Given the description of an element on the screen output the (x, y) to click on. 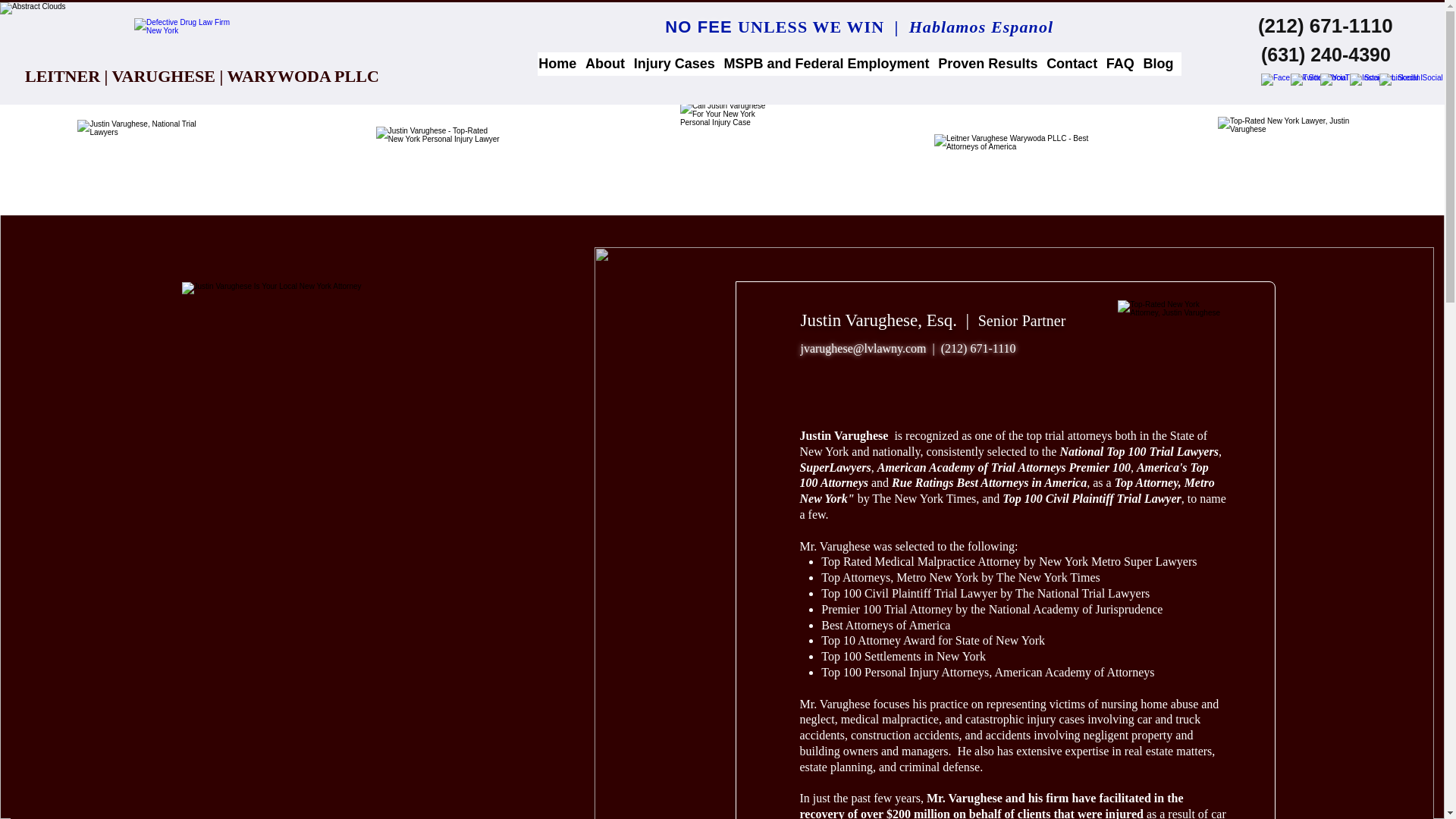
FAQ (1123, 64)
LVW 5.png (188, 42)
NO FEE (701, 26)
Proven Results (991, 64)
Home (561, 64)
About (609, 64)
Injury Cases (678, 64)
Blog (1162, 64)
Contact (1075, 64)
MSPB and Federal Employment (830, 64)
